Given the description of an element on the screen output the (x, y) to click on. 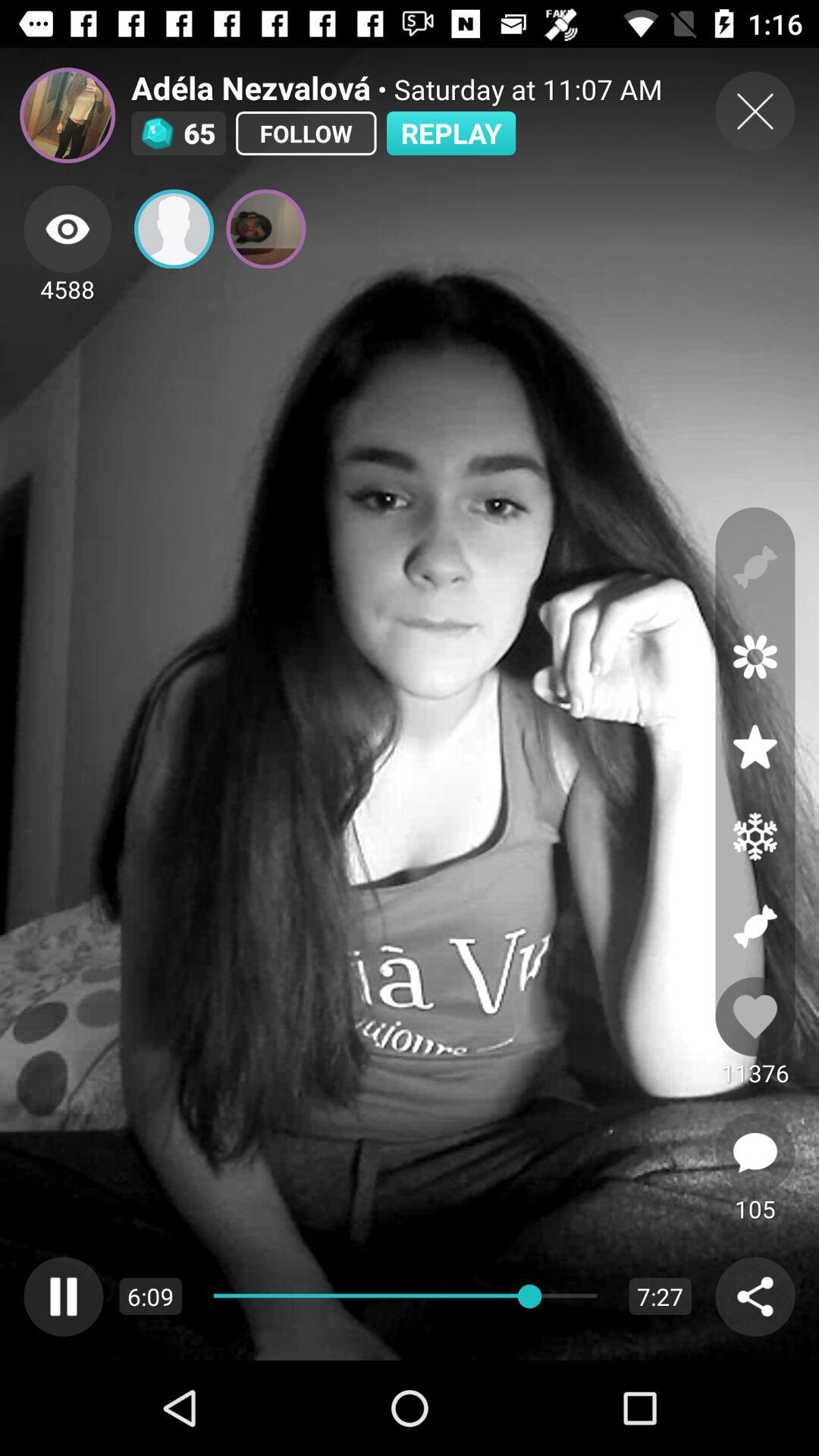
edit the photo (755, 656)
